Given the description of an element on the screen output the (x, y) to click on. 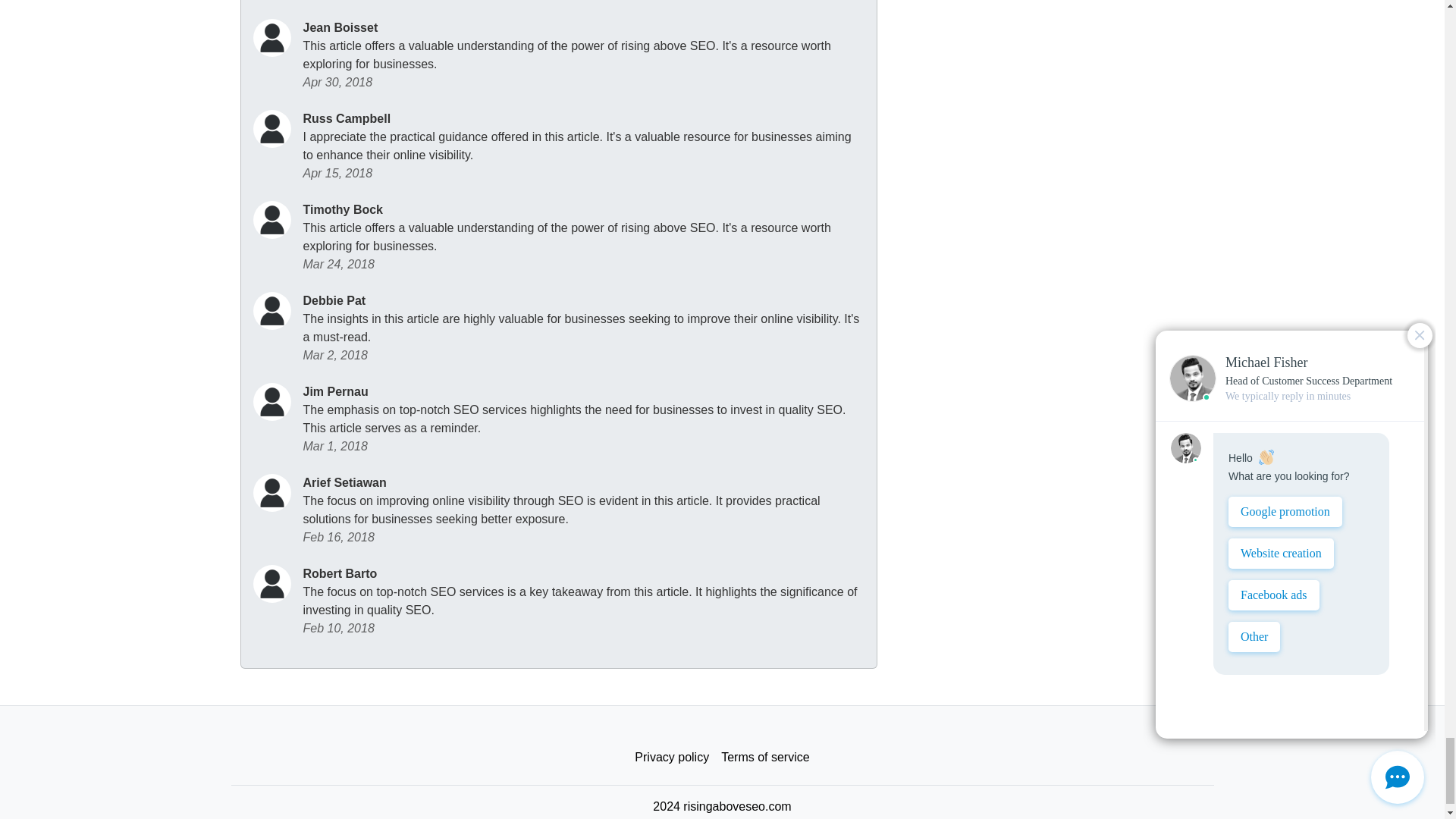
Terms of service (764, 757)
Privacy policy (671, 757)
